Given the description of an element on the screen output the (x, y) to click on. 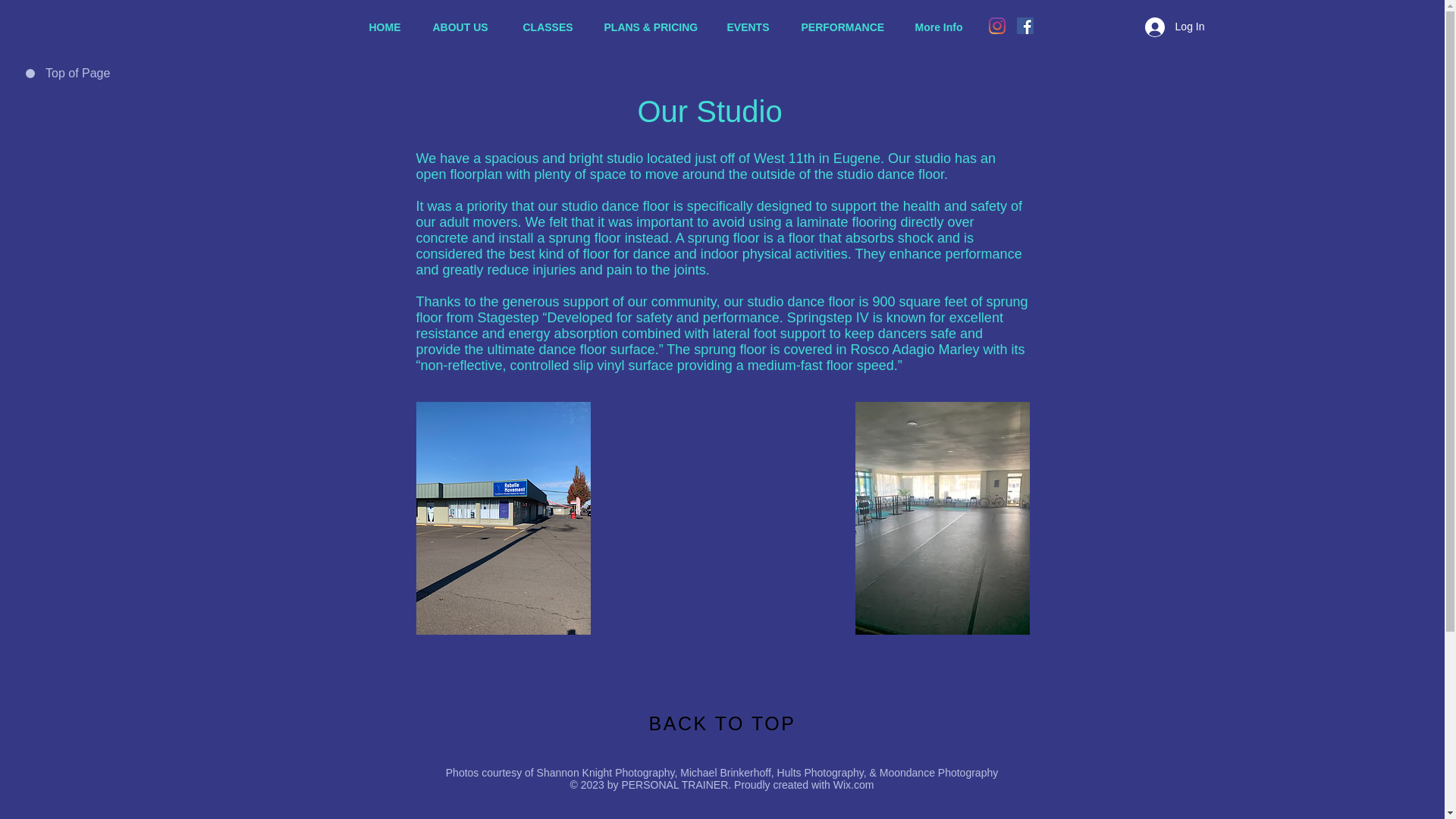
HOME (390, 26)
PERFORMANCE (847, 26)
CLASSES (551, 26)
Top of Page (79, 73)
ABOUT US (467, 26)
EVENTS (753, 26)
Log In (1174, 27)
BACK TO TOP (722, 722)
Wix.com (853, 784)
